Given the description of an element on the screen output the (x, y) to click on. 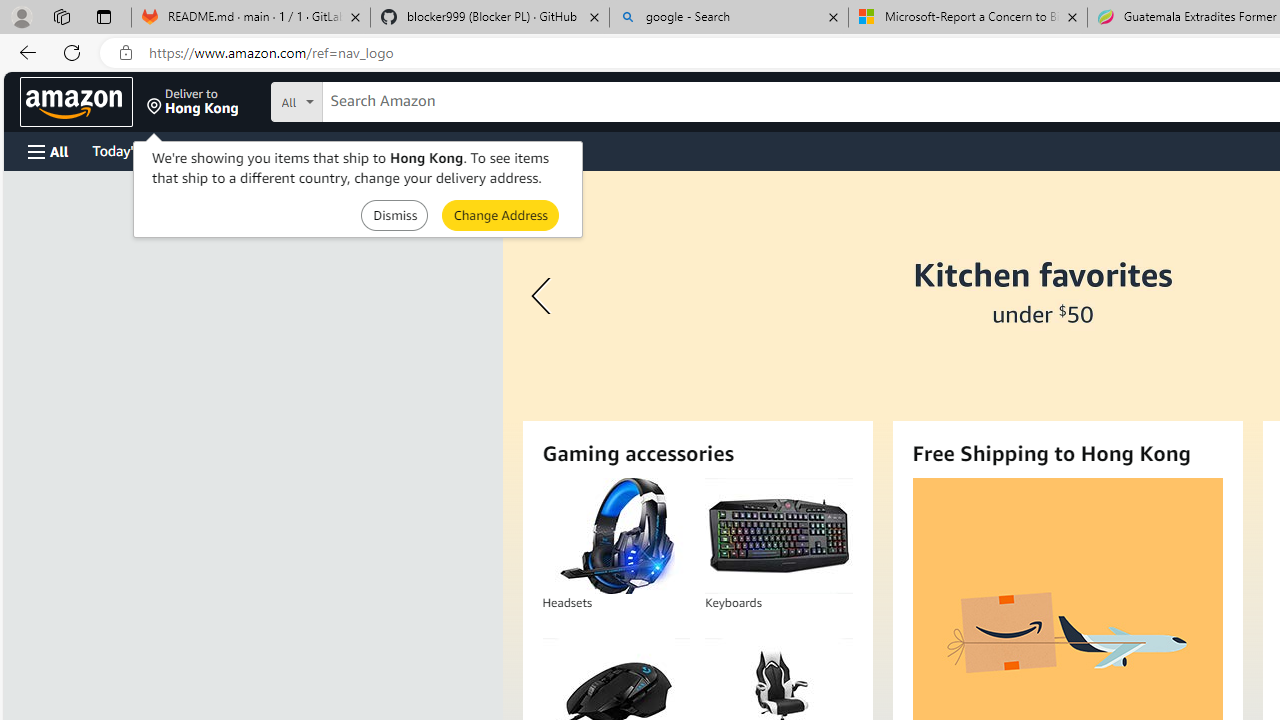
Keyboards (778, 536)
Gift Cards (442, 150)
Keyboards (778, 536)
Microsoft-Report a Concern to Bing (967, 17)
Skip to main content (86, 100)
Workspaces (61, 16)
Today's Deals (134, 150)
Headsets (615, 536)
Open Menu (48, 151)
Sell (509, 150)
Headsets (616, 536)
